Given the description of an element on the screen output the (x, y) to click on. 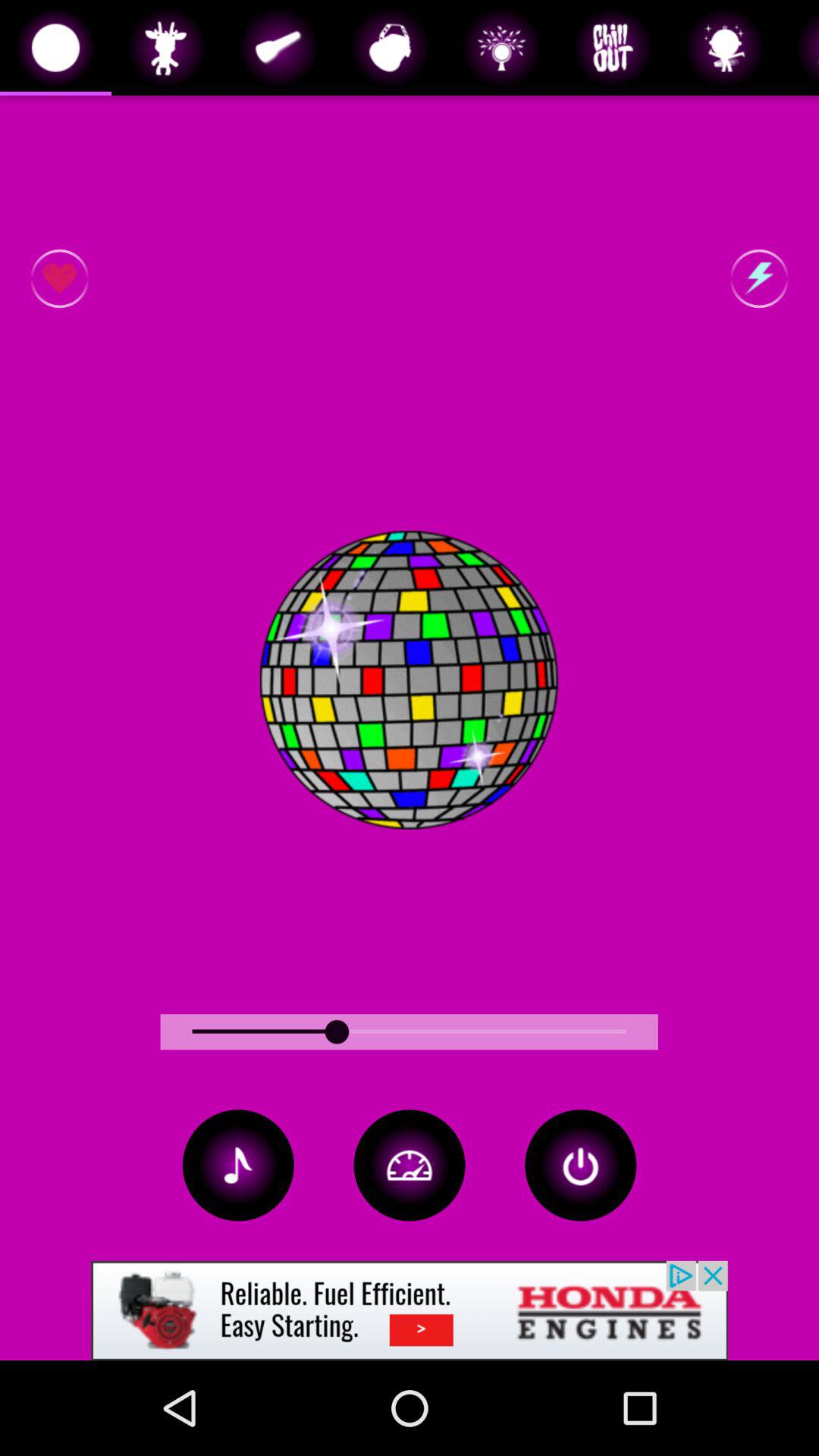
share the article (409, 1310)
